Given the description of an element on the screen output the (x, y) to click on. 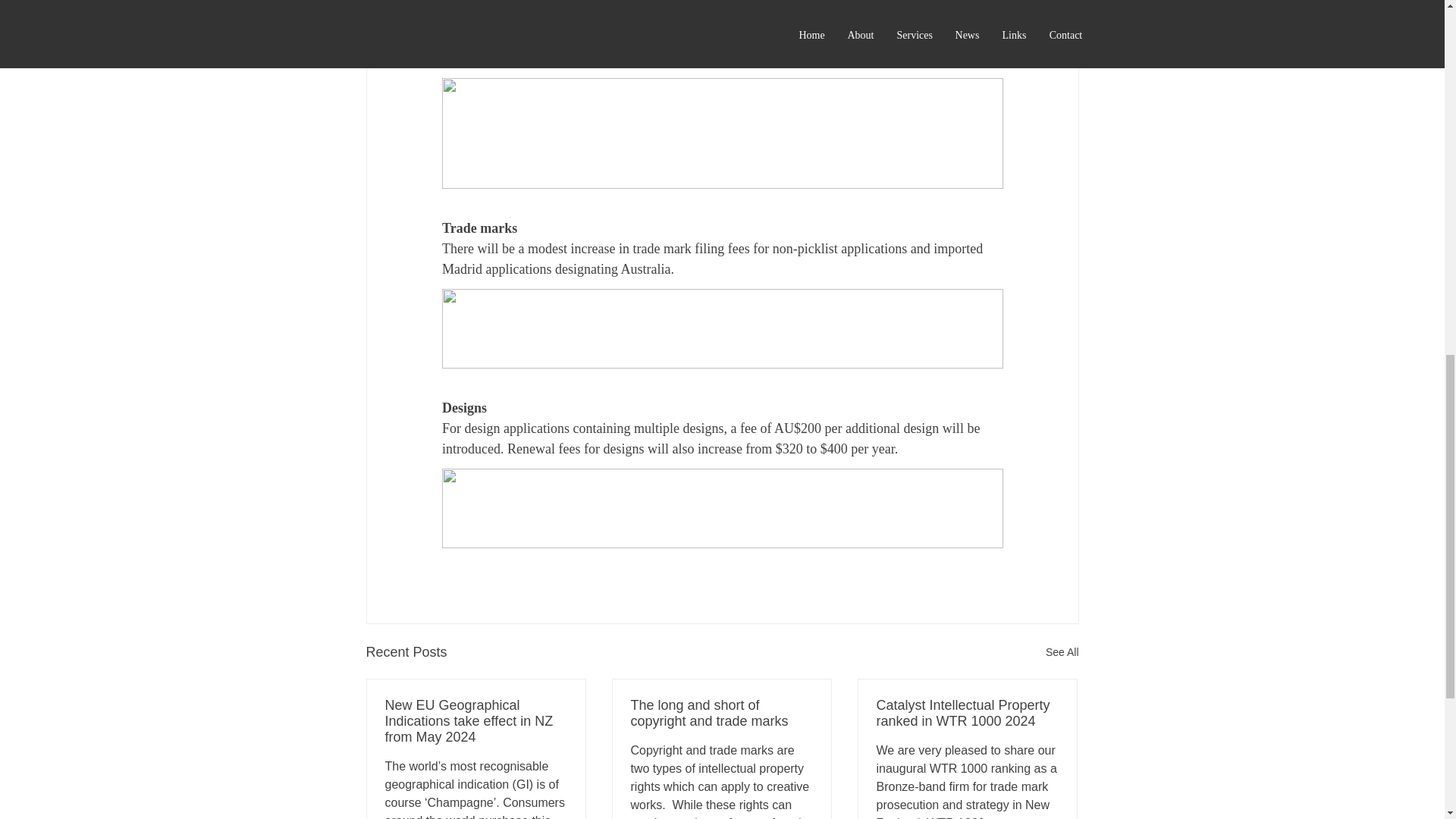
The long and short of copyright and trade marks (721, 713)
Catalyst Intellectual Property ranked in WTR 1000 2024 (967, 713)
See All (1061, 652)
